Given the description of an element on the screen output the (x, y) to click on. 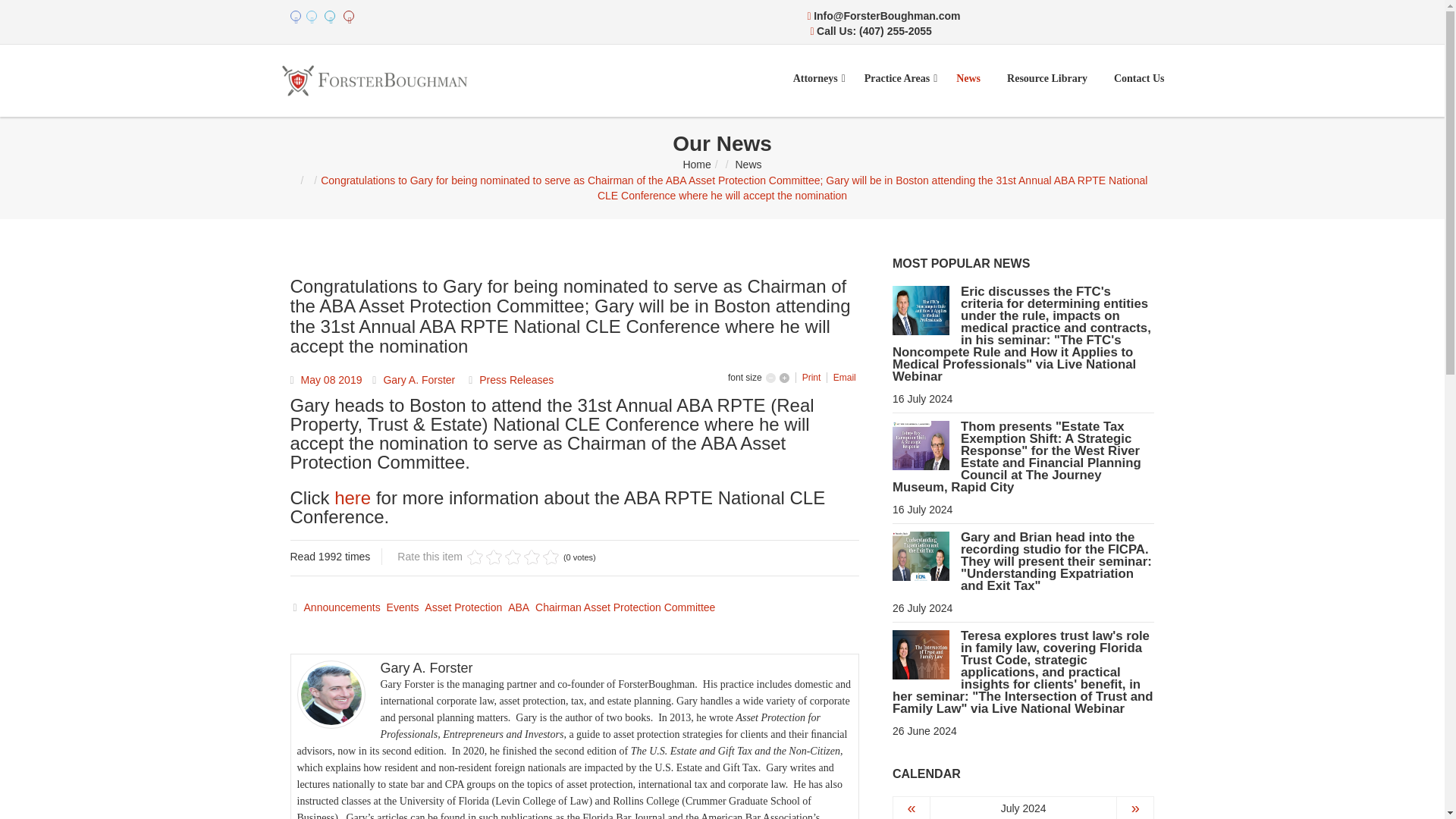
3 stars out of 5 (493, 557)
4 stars out of 5 (503, 557)
1 star out of 5 (474, 557)
2 stars out of 5 (484, 557)
Practice Areas (896, 78)
Attorneys (814, 78)
5 stars out of 5 (512, 557)
